Given the description of an element on the screen output the (x, y) to click on. 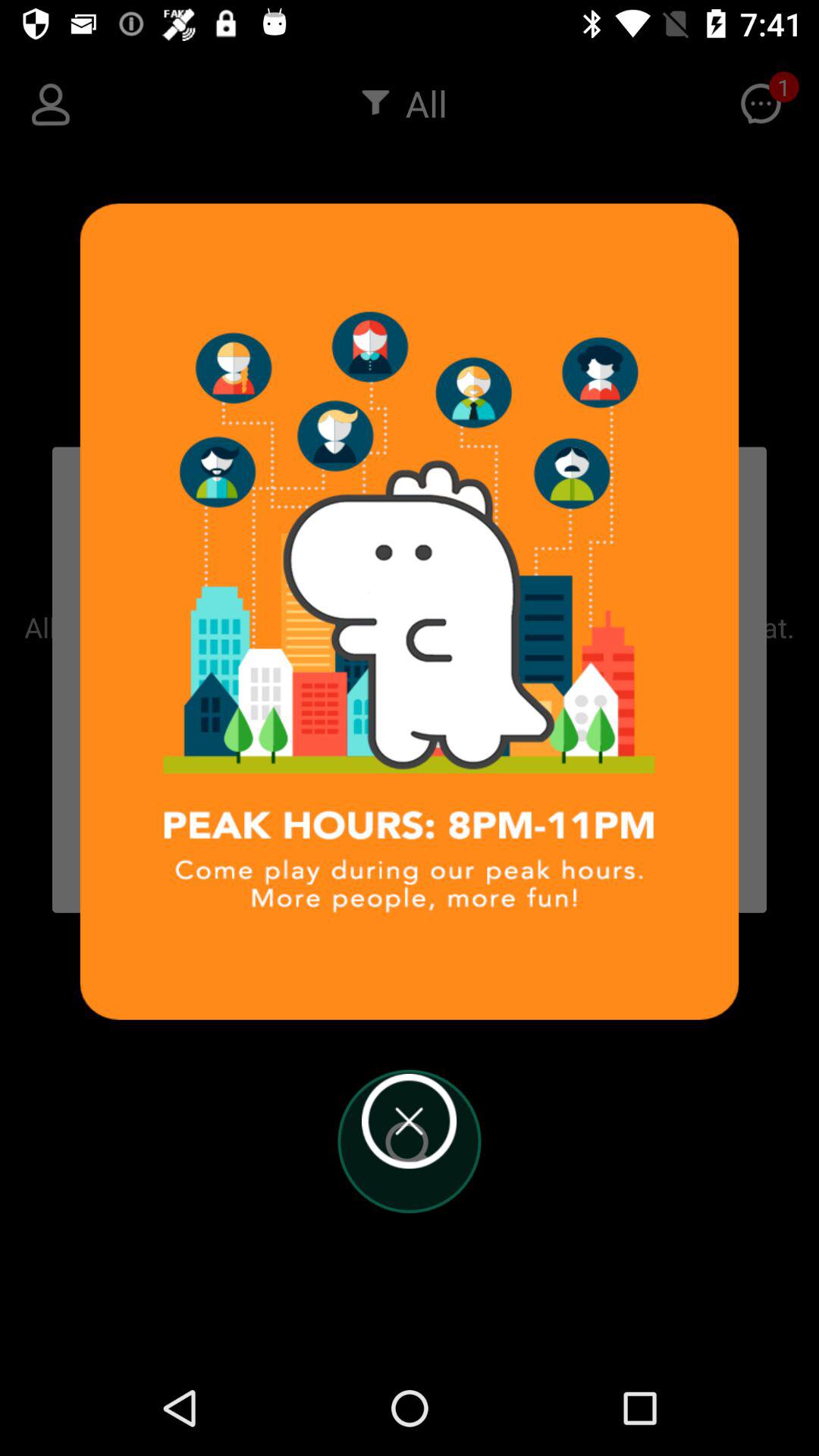
close pop up (408, 1120)
